Given the description of an element on the screen output the (x, y) to click on. 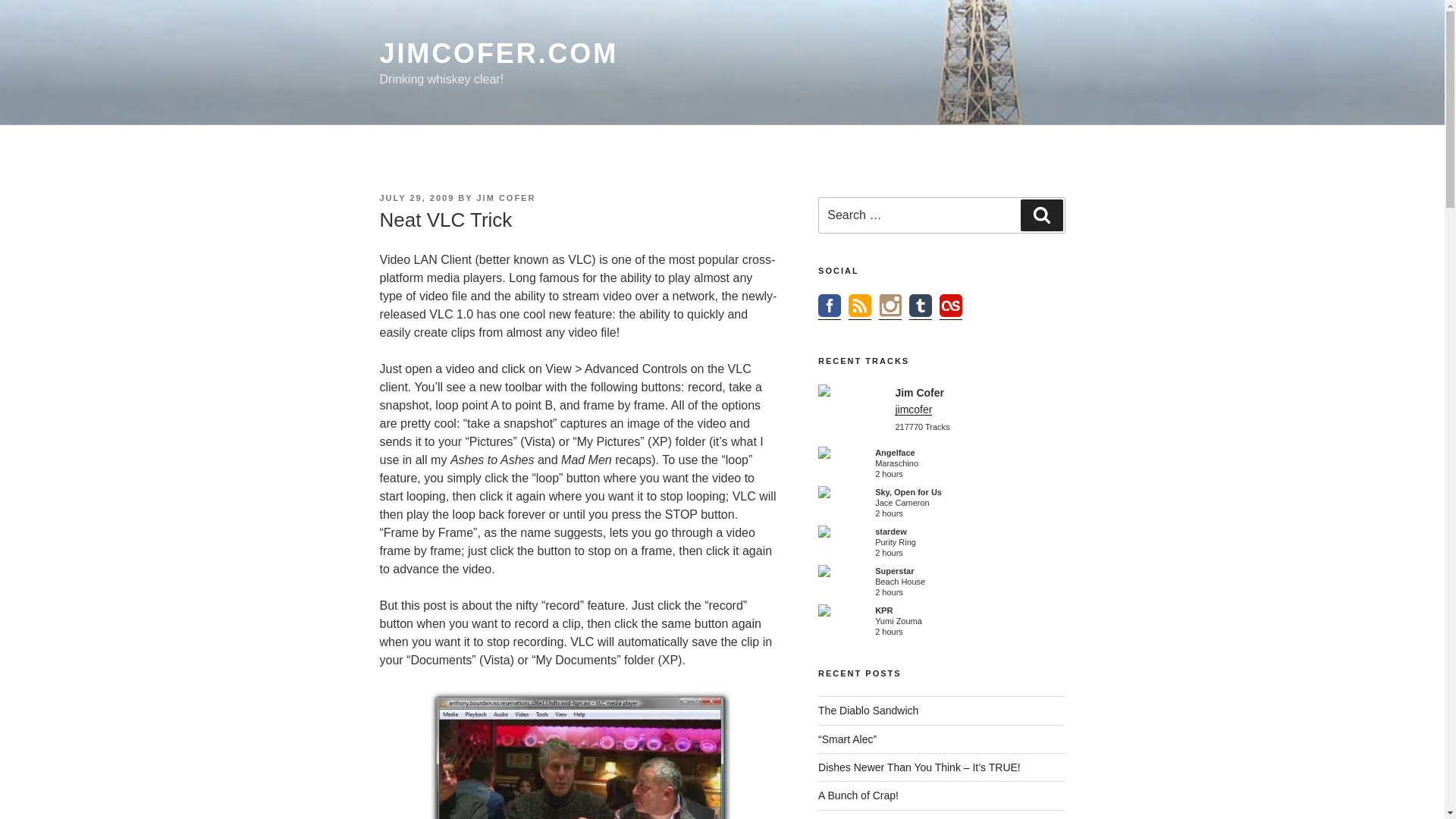
JIM COFER (505, 197)
JULY 29, 2009 (416, 197)
jimcofer (913, 409)
VLC clip (578, 753)
Search (1041, 214)
The Diablo Sandwich (868, 710)
JIMCOFER.COM (497, 52)
A Bunch of Crap! (858, 795)
